Given the description of an element on the screen output the (x, y) to click on. 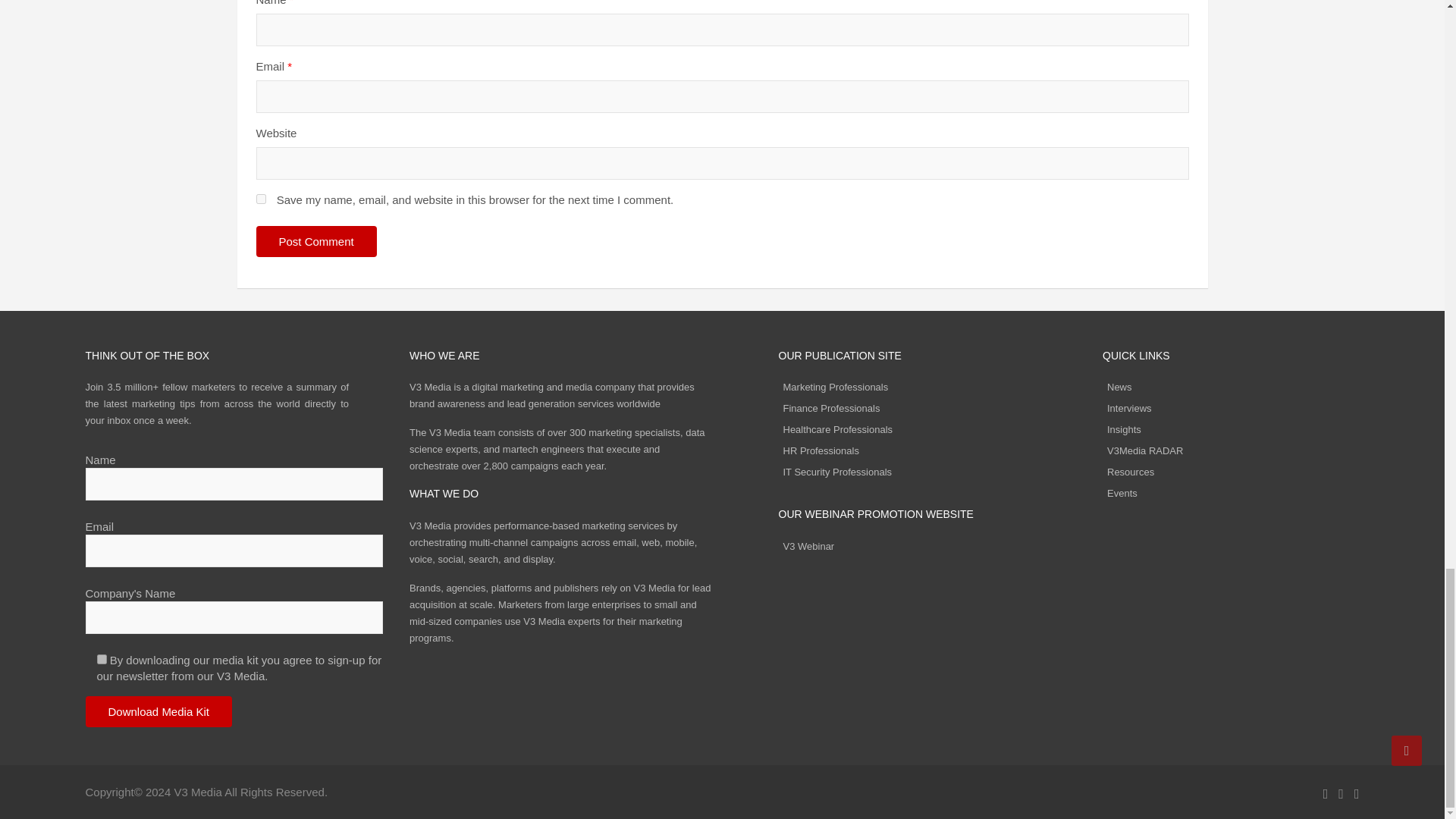
Post Comment (316, 241)
yes (261, 198)
Download Media Kit (157, 711)
